Given the description of an element on the screen output the (x, y) to click on. 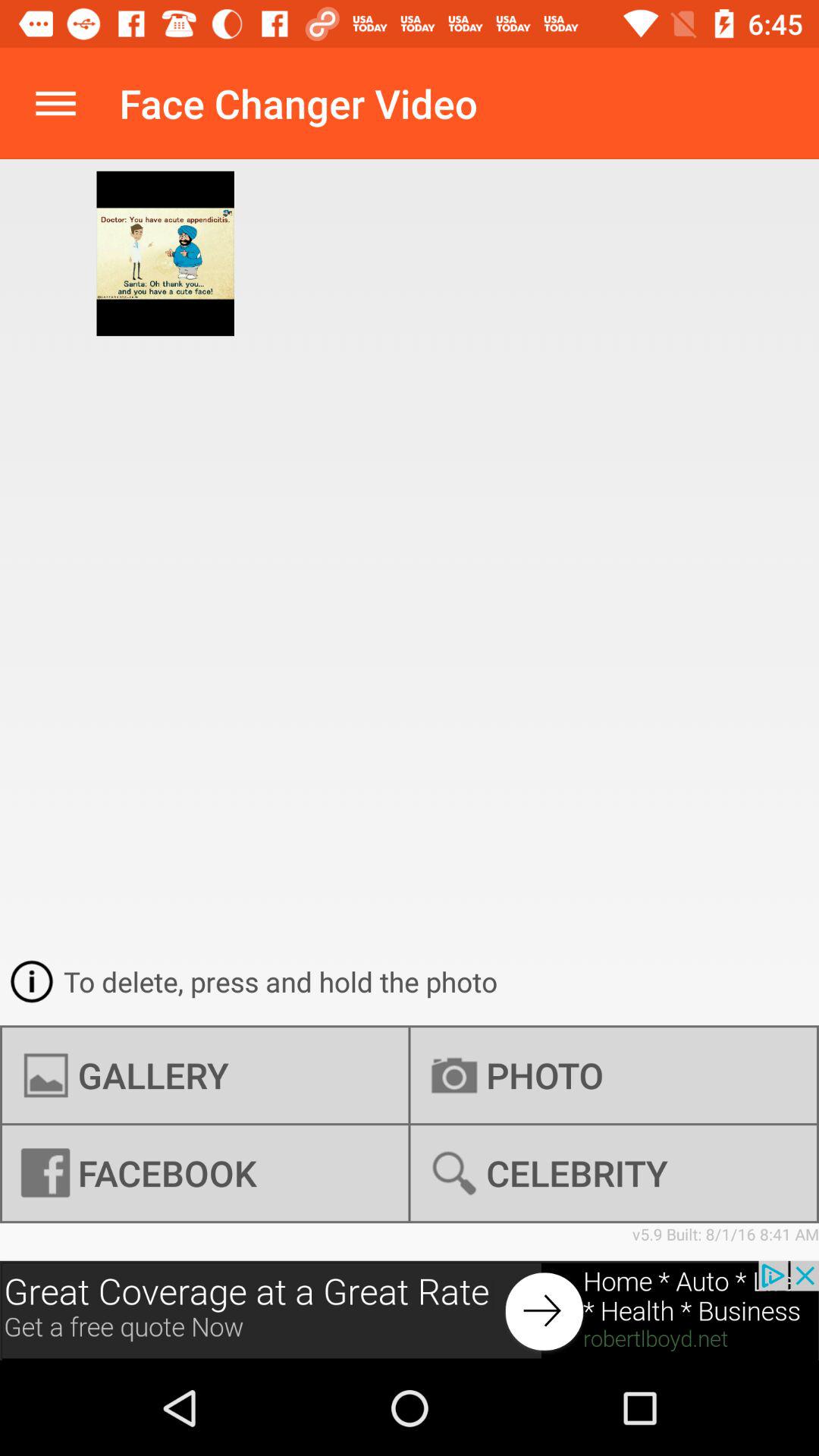
choose celebrity icon (613, 1173)
